Given the description of an element on the screen output the (x, y) to click on. 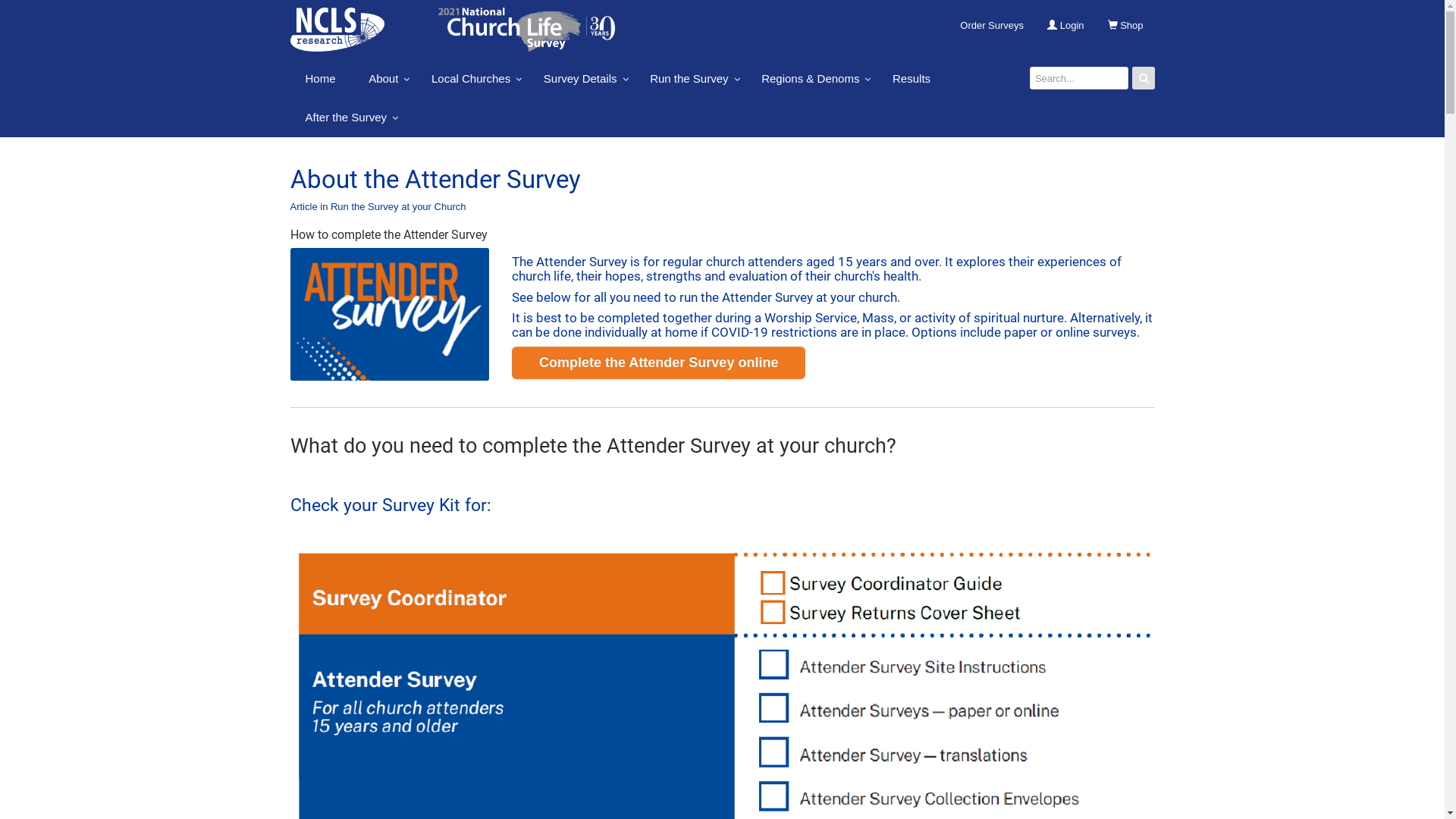
Article Element type: text (302, 206)
Run the Survey Element type: text (688, 78)
About Element type: text (383, 78)
After the Survey Element type: text (345, 116)
Regions & Denoms Element type: text (810, 78)
Local Churches Element type: text (470, 78)
Login Element type: text (1065, 25)
Complete the Attender Survey online Element type: text (658, 362)
Survey Details Element type: text (580, 78)
Results Element type: text (911, 78)
Home Element type: text (319, 78)
Order Surveys Element type: text (991, 25)
Shop Element type: text (1125, 25)
Run the Survey at your Church Element type: text (397, 206)
